Given the description of an element on the screen output the (x, y) to click on. 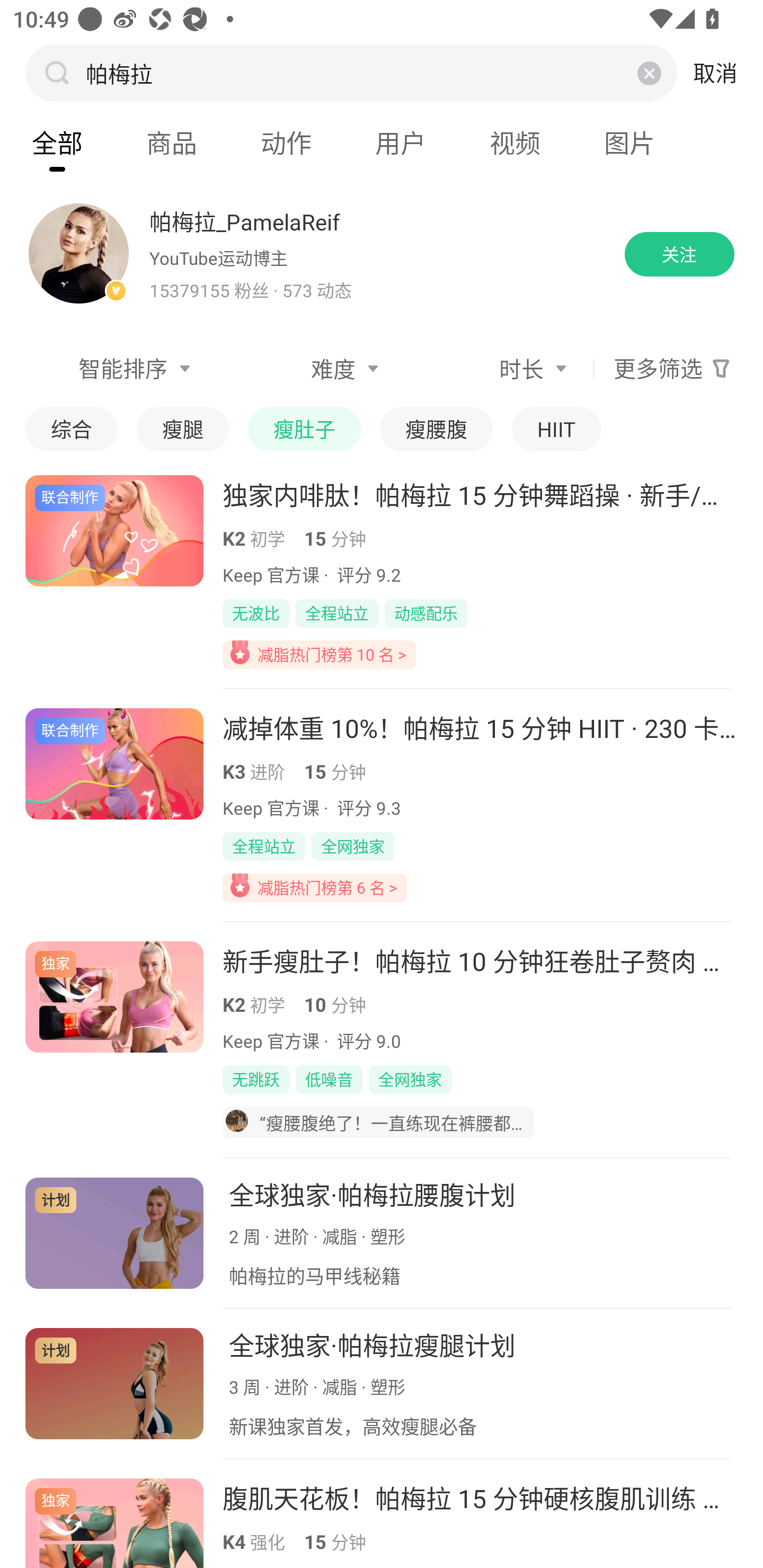
帕梅拉 EditSearch (349, 72)
取消 (714, 72)
全部 (57, 143)
商品 (171, 143)
动作 (285, 143)
用户 (400, 143)
视频 (514, 143)
图片 (629, 143)
帕梅拉_PamelaReif YouTube运动博主 关注 15379155 粉丝 · 573 动态 (381, 254)
关注 (679, 253)
智能排序 (111, 368)
综合 (71, 428)
瘦腿 (182, 428)
瘦肚子 (303, 428)
瘦腰腹 (435, 428)
HIIT (556, 428)
减脂热门榜第 10 名 > (318, 654)
减脂热门榜第 6 名 > (314, 887)
计划 全球独家·帕梅拉腰腹计划 2 周 · 进阶 · 减脂 · 塑形 帕梅拉的马甲线秘籍 (381, 1232)
计划 全球独家·帕梅拉瘦腿计划 3 周 · 进阶 · 减脂 · 塑形 新课独家首发，高效瘦腿必备 (381, 1383)
